Given the description of an element on the screen output the (x, y) to click on. 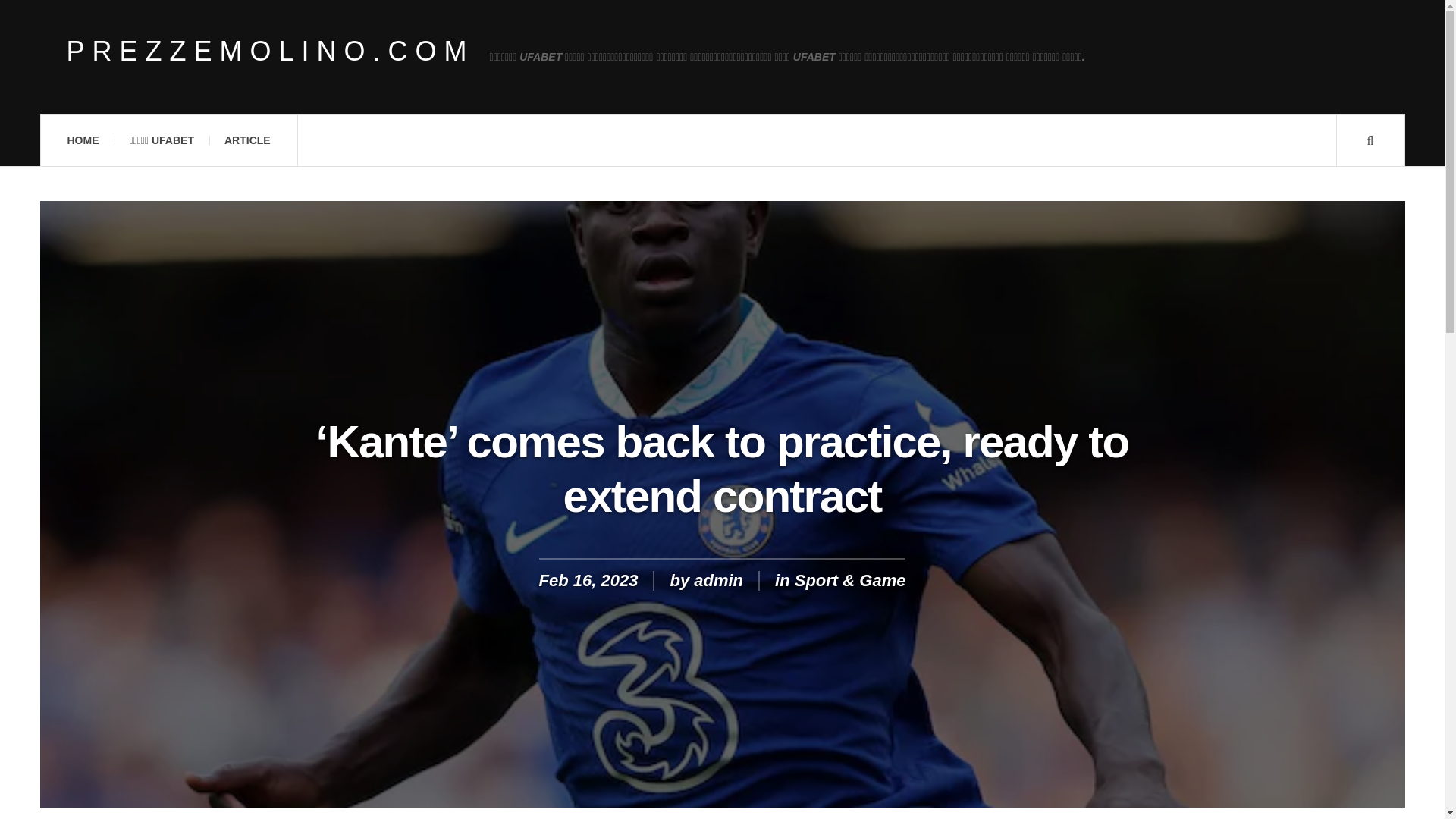
admin (718, 579)
PREZZEMOLINO.COM (270, 51)
ARTICLE (247, 140)
HOME (81, 140)
prezzemolino.com (270, 51)
